Given the description of an element on the screen output the (x, y) to click on. 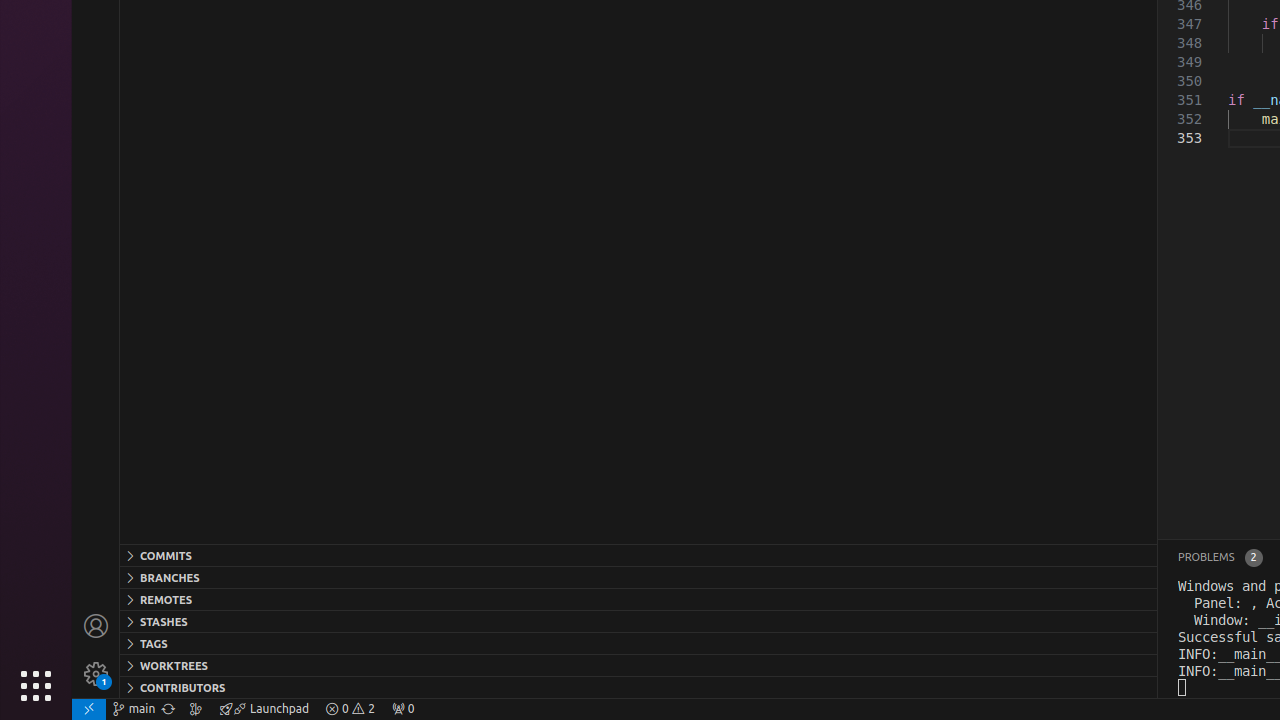
Show the GitLens Commit Graph Element type: push-button (196, 709)
Tags Section Element type: push-button (638, 643)
Manage - New Code update available. Element type: push-button (96, 674)
OSWorld (Git) - main, Checkout Branch/Tag... Element type: push-button (134, 709)
Commits Section Element type: push-button (638, 555)
